Given the description of an element on the screen output the (x, y) to click on. 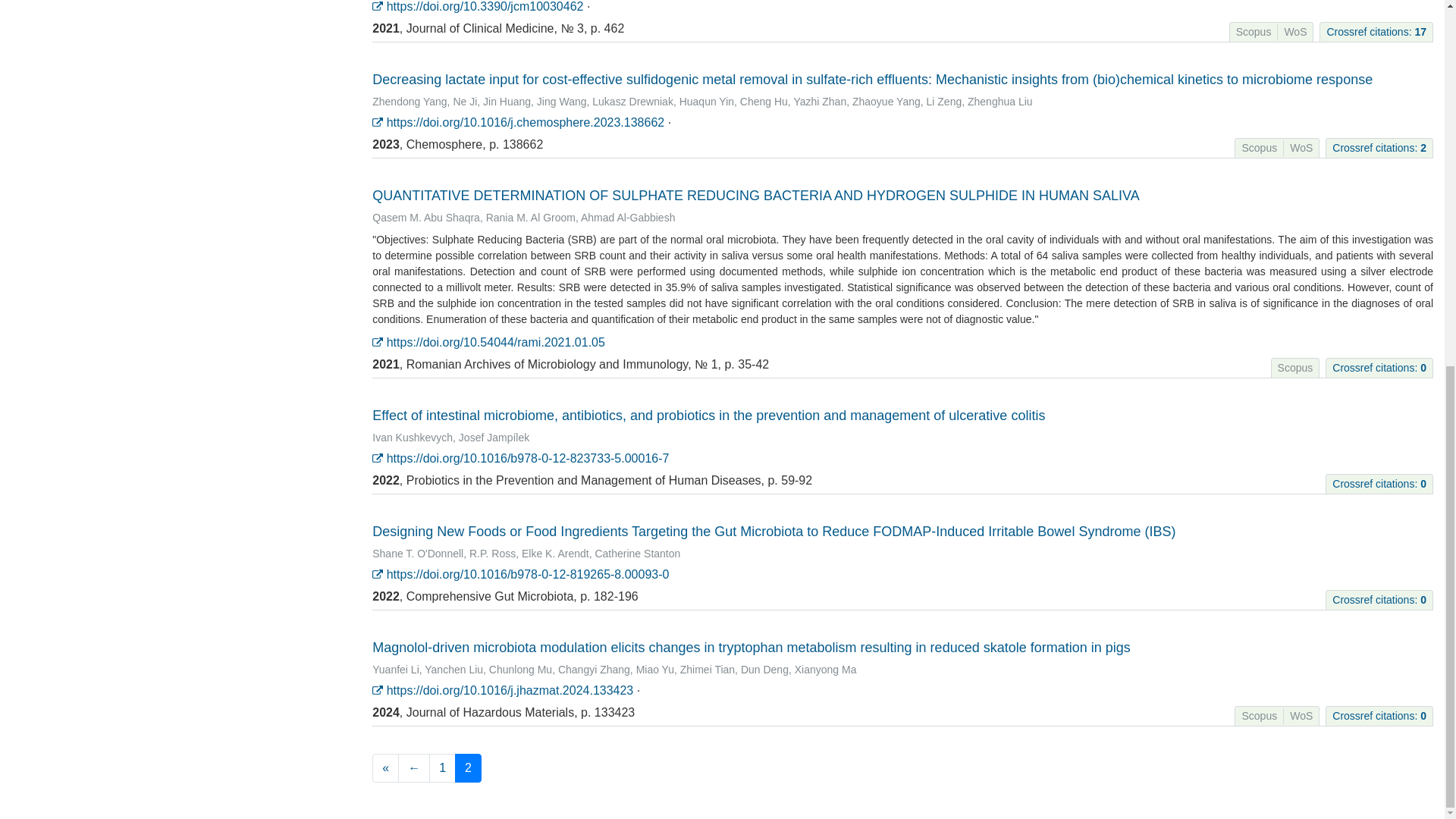
Crossref citations: 0 (1379, 483)
Crossref citations: 2 (1379, 147)
Crossref citations: 0 (1379, 599)
Crossref citations: 17 (1376, 31)
Crossref citations: 0 (1379, 715)
Crossref citations: 0 (1379, 367)
